Given the description of an element on the screen output the (x, y) to click on. 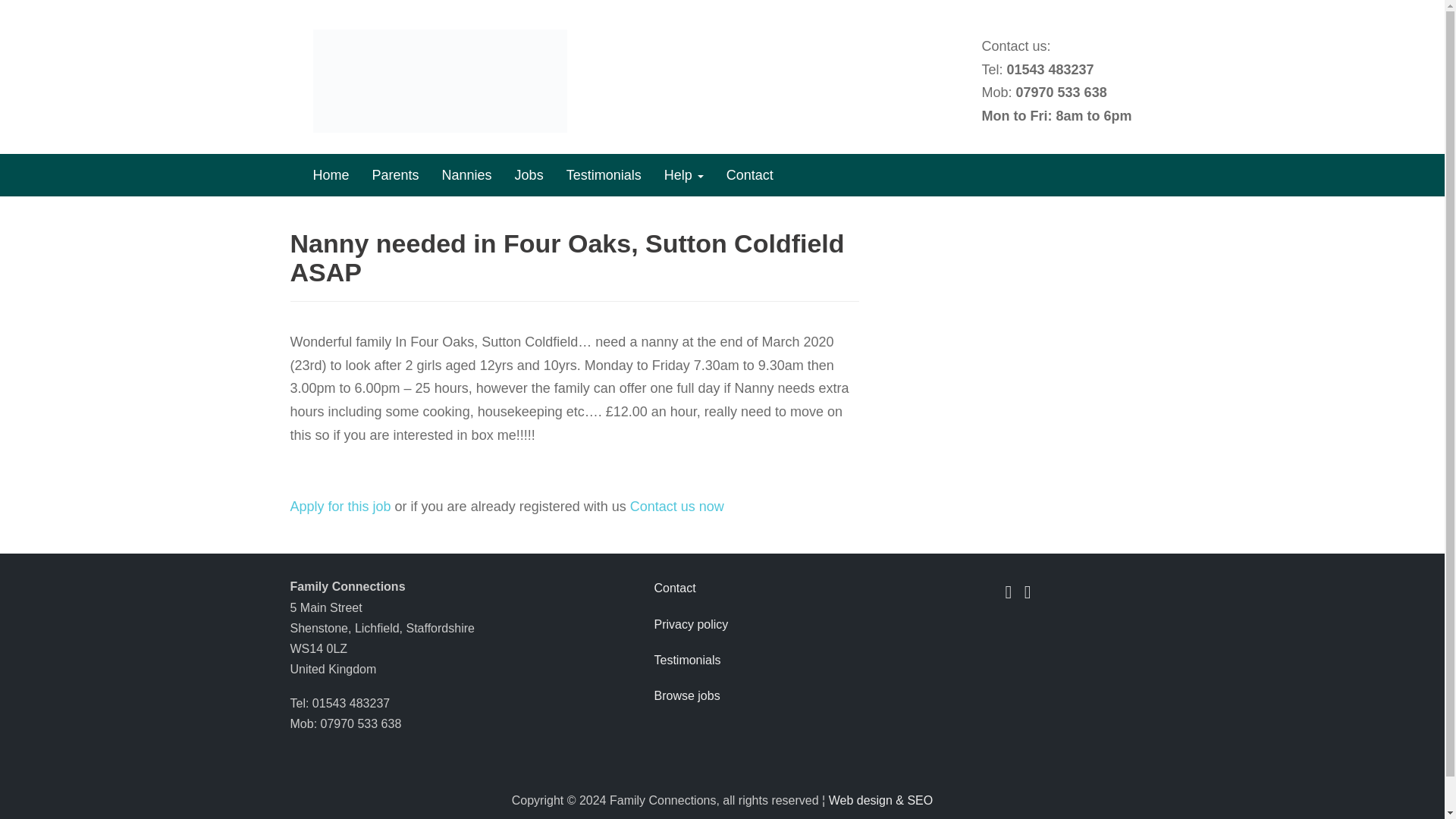
Contact (749, 174)
Help (683, 174)
Parents (395, 174)
Browse jobs (750, 695)
Privacy policy (750, 624)
Nannies (466, 174)
Jobs (528, 174)
Home (331, 174)
Help (683, 174)
Contact (750, 588)
